Given the description of an element on the screen output the (x, y) to click on. 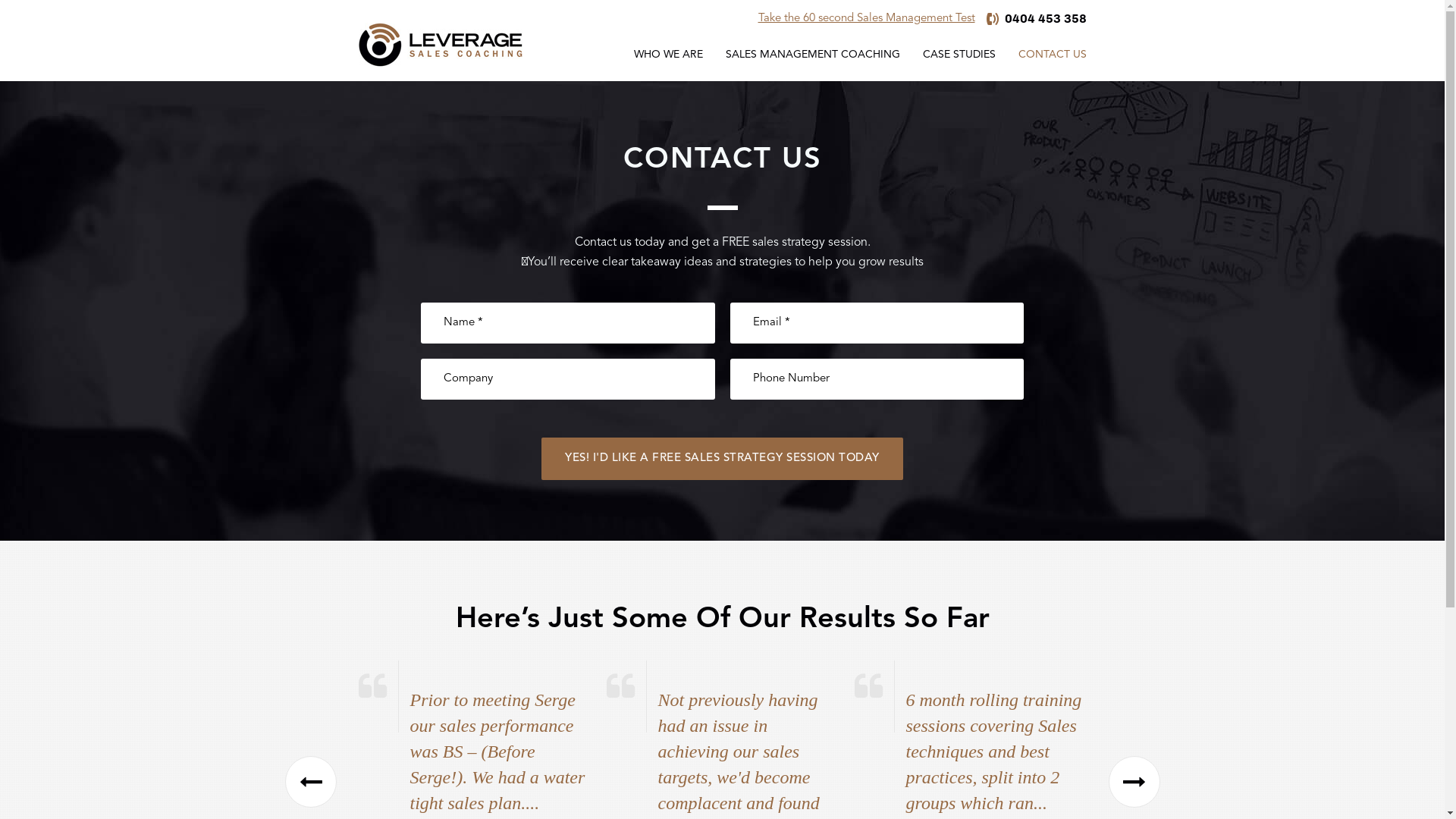
CONTACT US Element type: text (1052, 54)
Yes!  I'd Like A FREE Sales Strategy Session Today Element type: text (722, 458)
0404 453 358 Element type: text (1035, 18)
Take the 60 second Sales Management Test Element type: text (866, 18)
SALES MANAGEMENT COACHING Element type: text (812, 54)
CASE STUDIES Element type: text (959, 54)
WHO WE ARE Element type: text (667, 54)
